Given the description of an element on the screen output the (x, y) to click on. 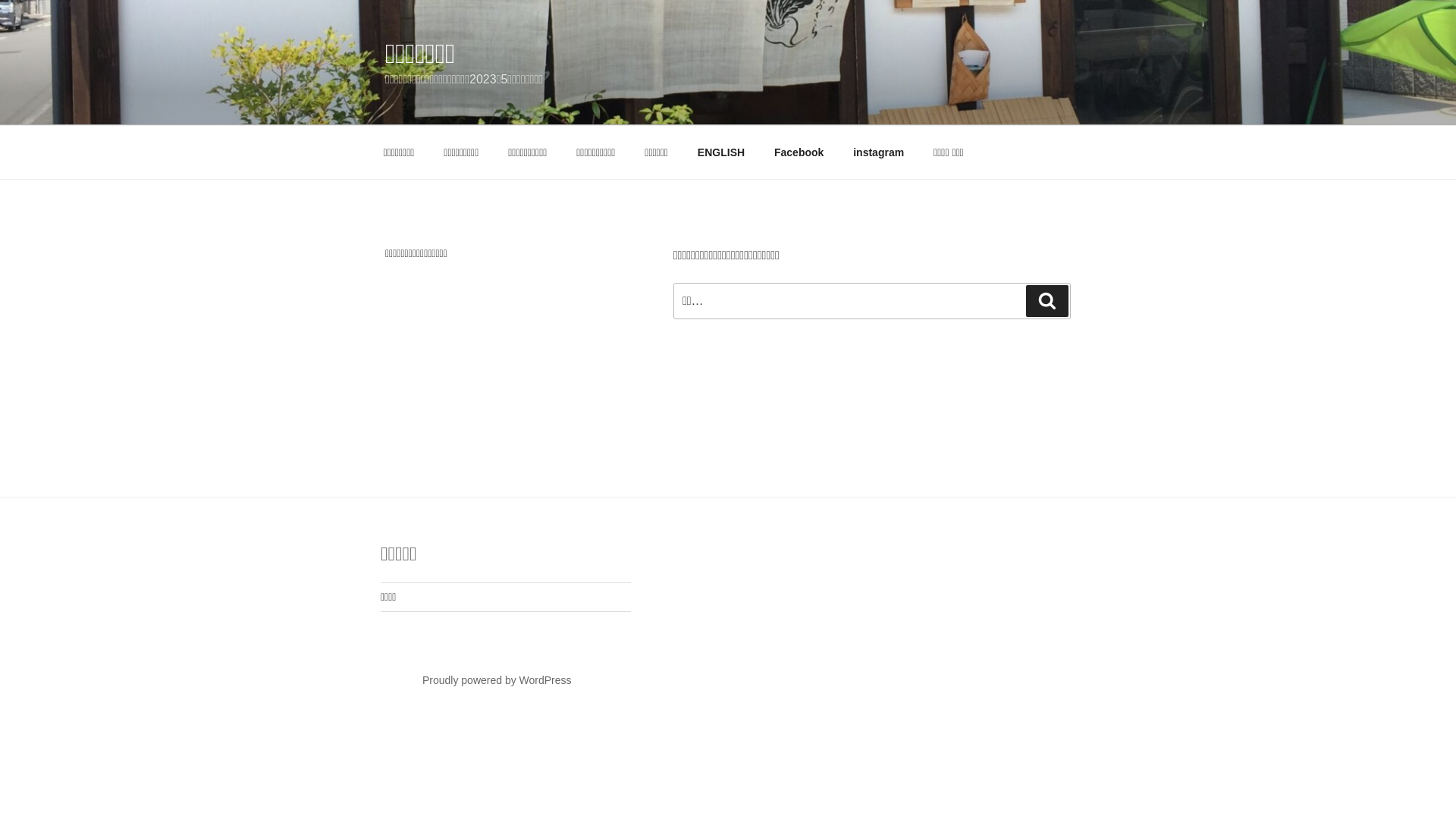
instagram Element type: text (878, 151)
ENGLISH Element type: text (720, 151)
Facebook Element type: text (798, 151)
Proudly powered by WordPress Element type: text (496, 680)
